Given the description of an element on the screen output the (x, y) to click on. 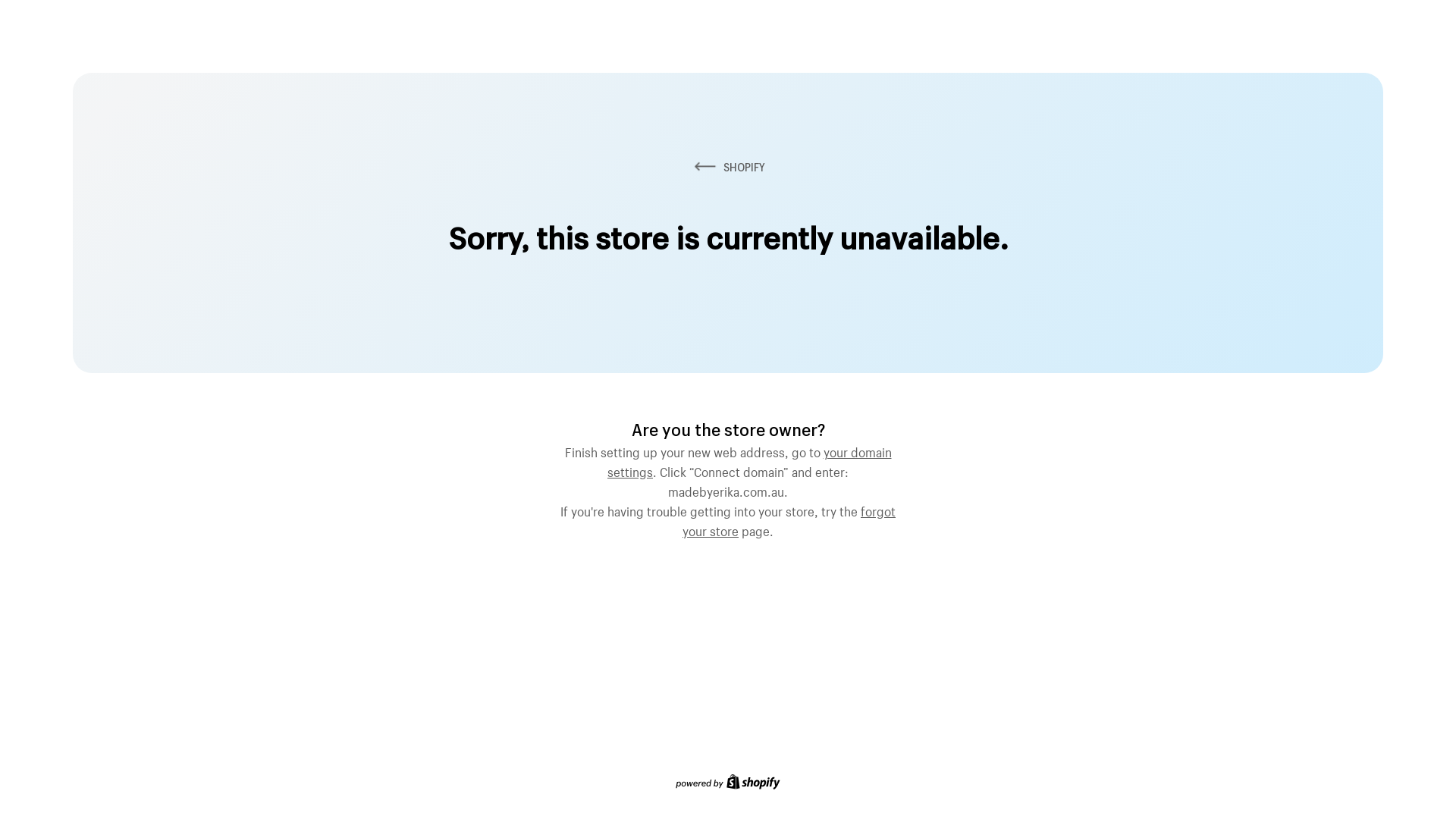
forgot your store Element type: text (788, 519)
SHOPIFY Element type: text (727, 167)
your domain settings Element type: text (749, 460)
